Given the description of an element on the screen output the (x, y) to click on. 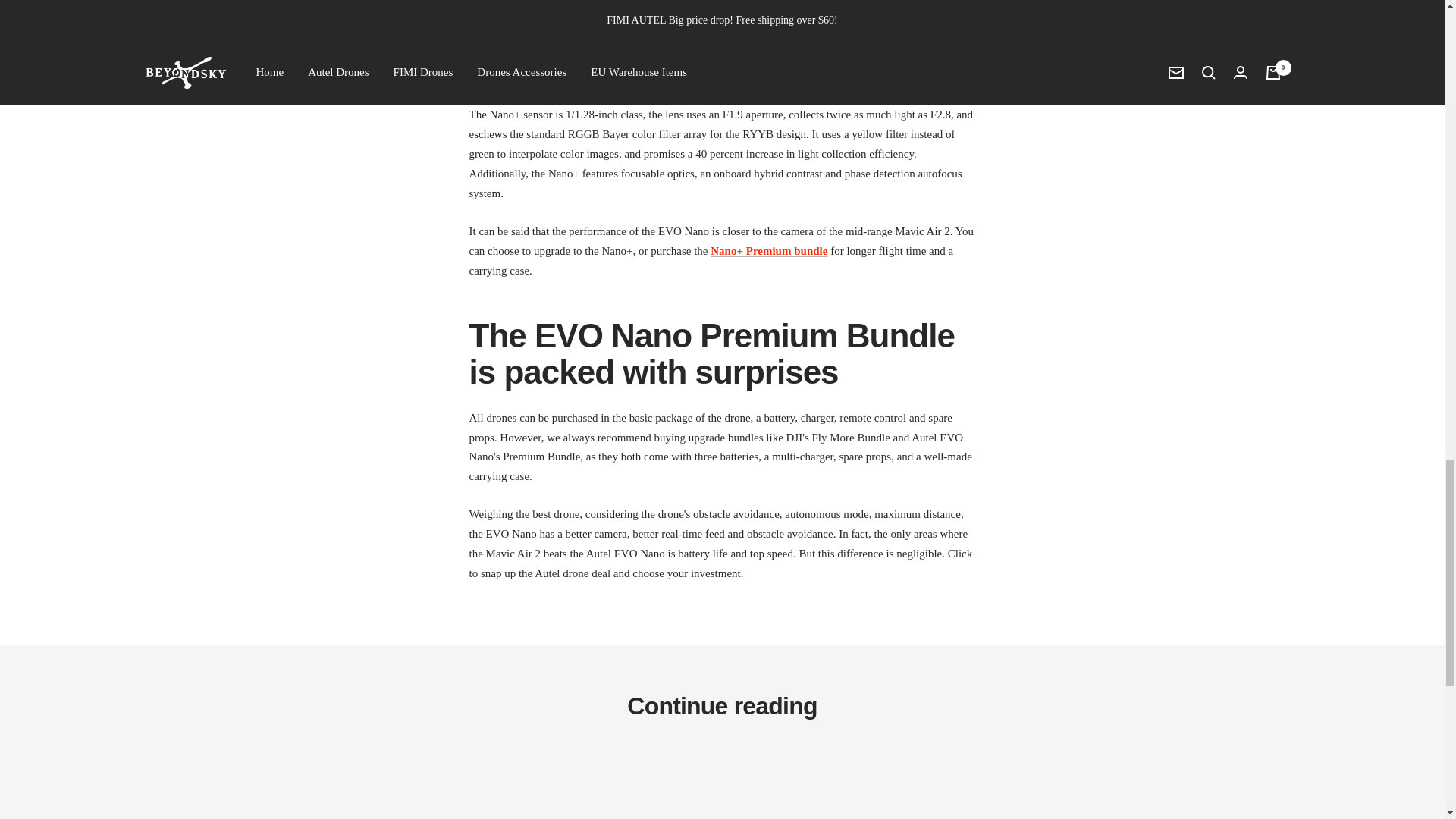
autel evo drone (768, 250)
